Given the description of an element on the screen output the (x, y) to click on. 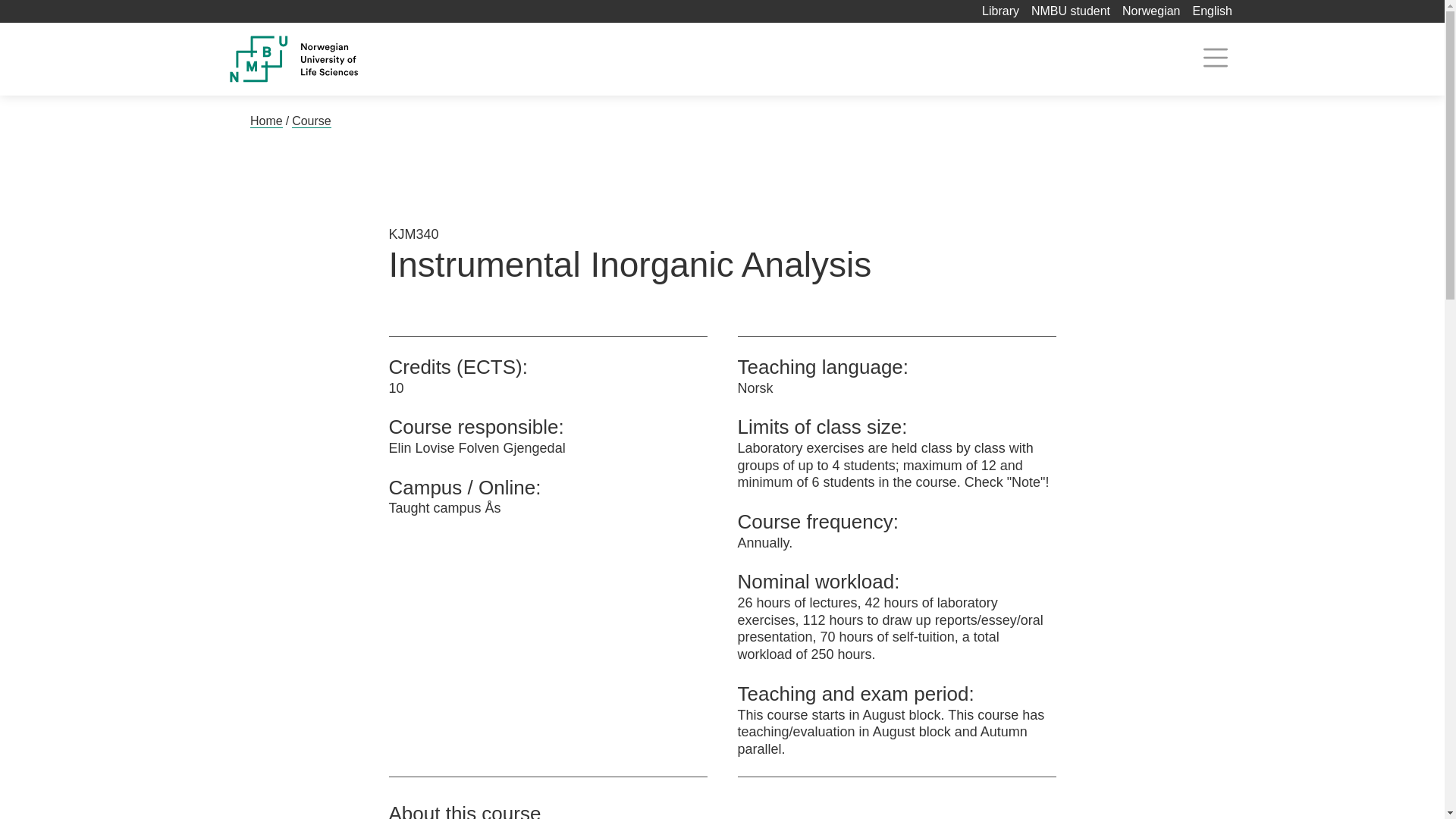
Norwegian (1150, 10)
Course (311, 120)
Home (266, 120)
English (1211, 10)
NMBU student (1069, 10)
Library (1000, 10)
NMBU (328, 59)
Menu (1214, 57)
